Given the description of an element on the screen output the (x, y) to click on. 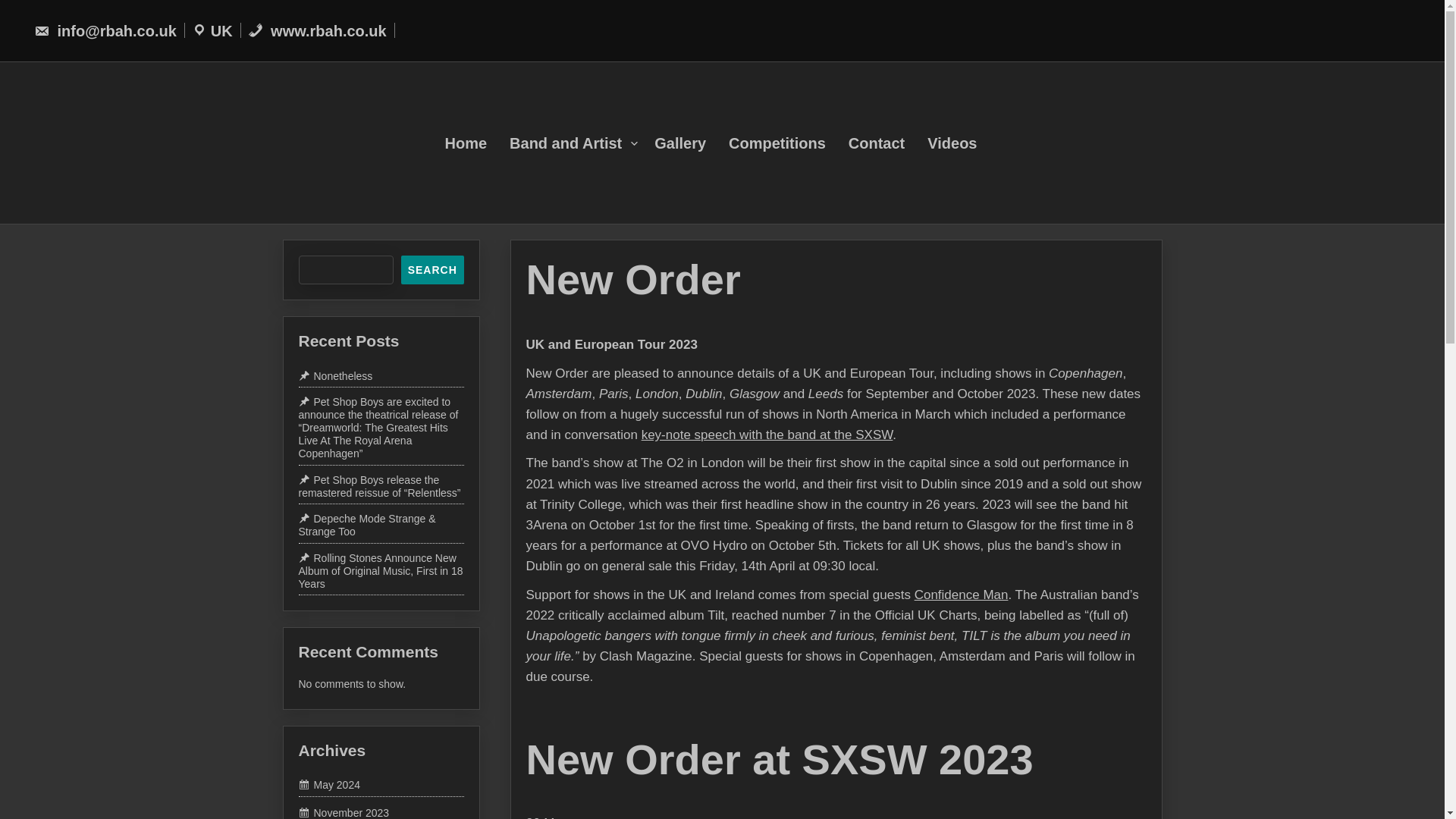
Home (476, 142)
key-note speech with the band at the SXSW (789, 473)
November 2023 (344, 812)
www.rbah.co.uk (317, 30)
Gallery (691, 142)
Confidence Man (952, 613)
Nonetheless (335, 376)
Videos (962, 142)
May 2024 (328, 784)
Competitions (788, 142)
SEARCH (432, 269)
Contact (887, 142)
Band and Artist (581, 142)
